Given the description of an element on the screen output the (x, y) to click on. 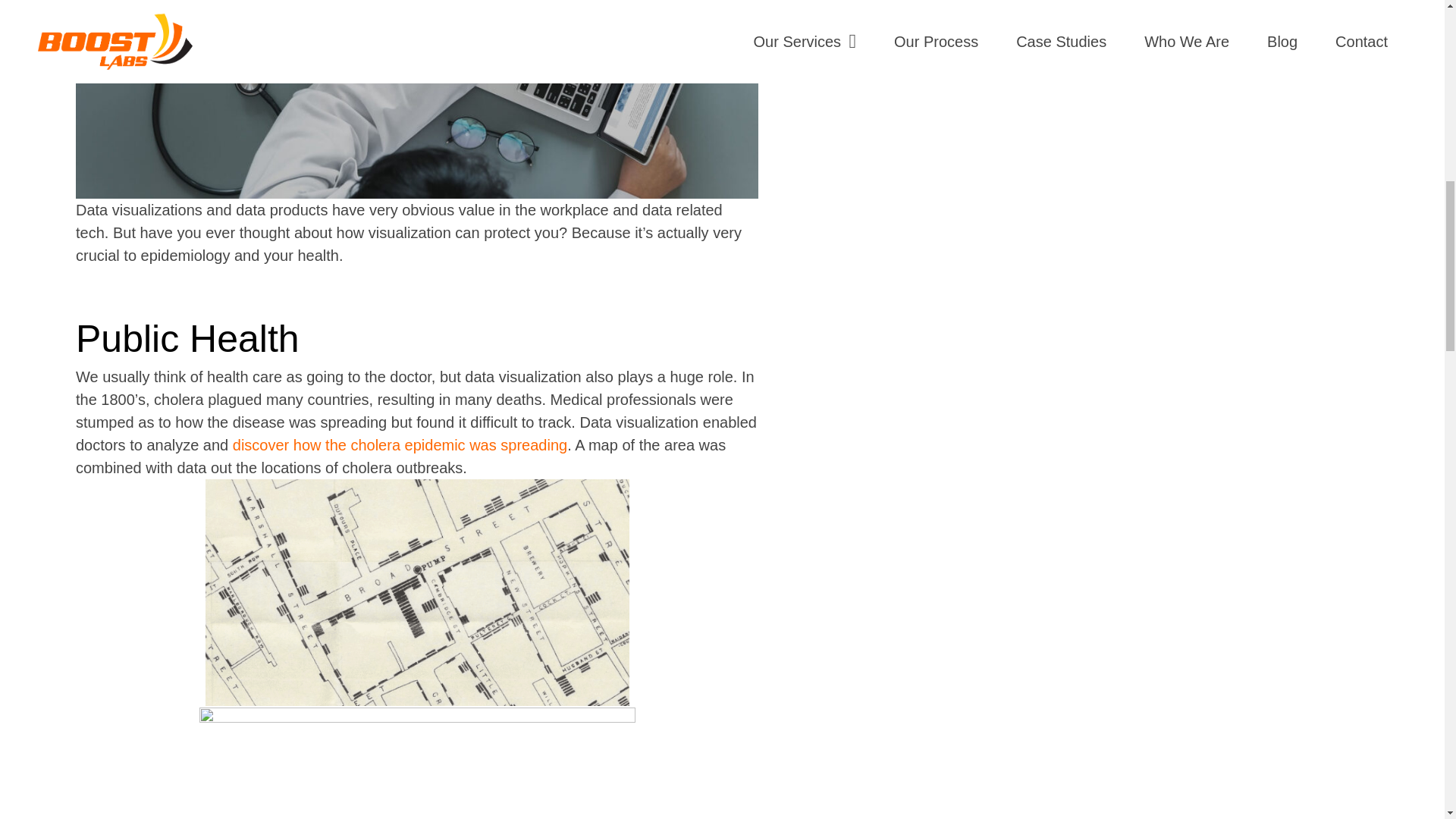
Back to top (1413, 45)
discover how the cholera epidemic was spreading (399, 444)
